Given the description of an element on the screen output the (x, y) to click on. 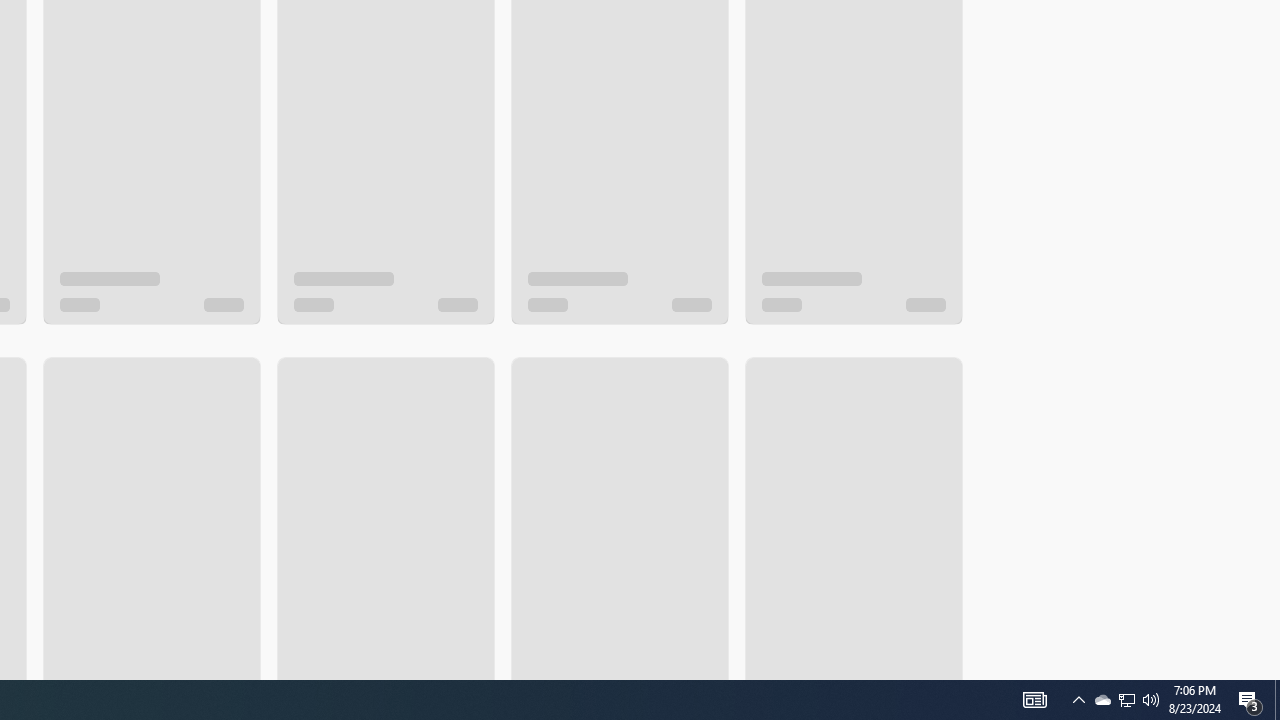
Vertical Small Increase (1272, 672)
